Given the description of an element on the screen output the (x, y) to click on. 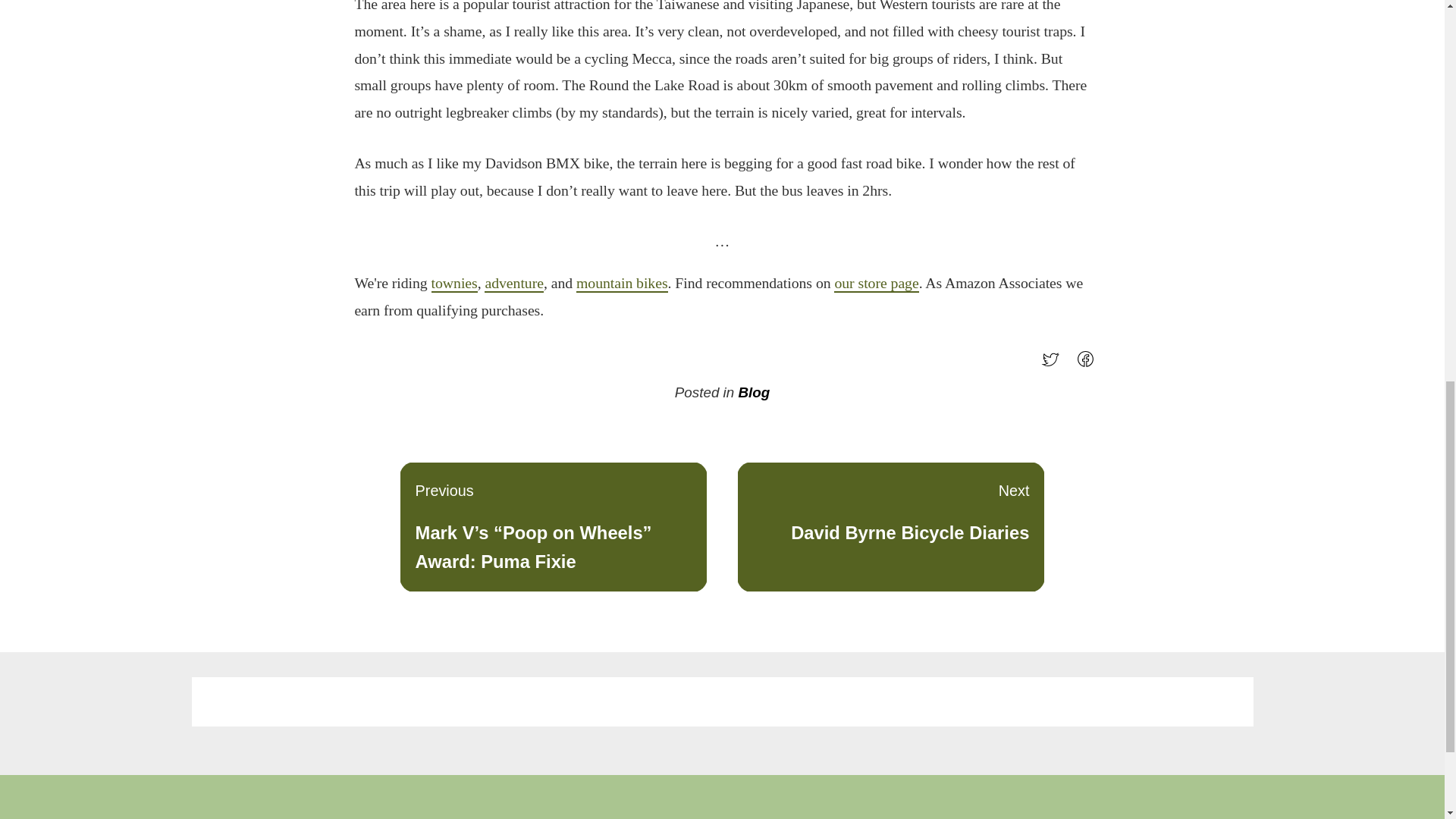
Share on Facebook (1089, 364)
Tweet (1054, 364)
Blog (754, 392)
townies (453, 283)
our store page (876, 283)
mountain bikes (622, 283)
adventure (890, 526)
